Given the description of an element on the screen output the (x, y) to click on. 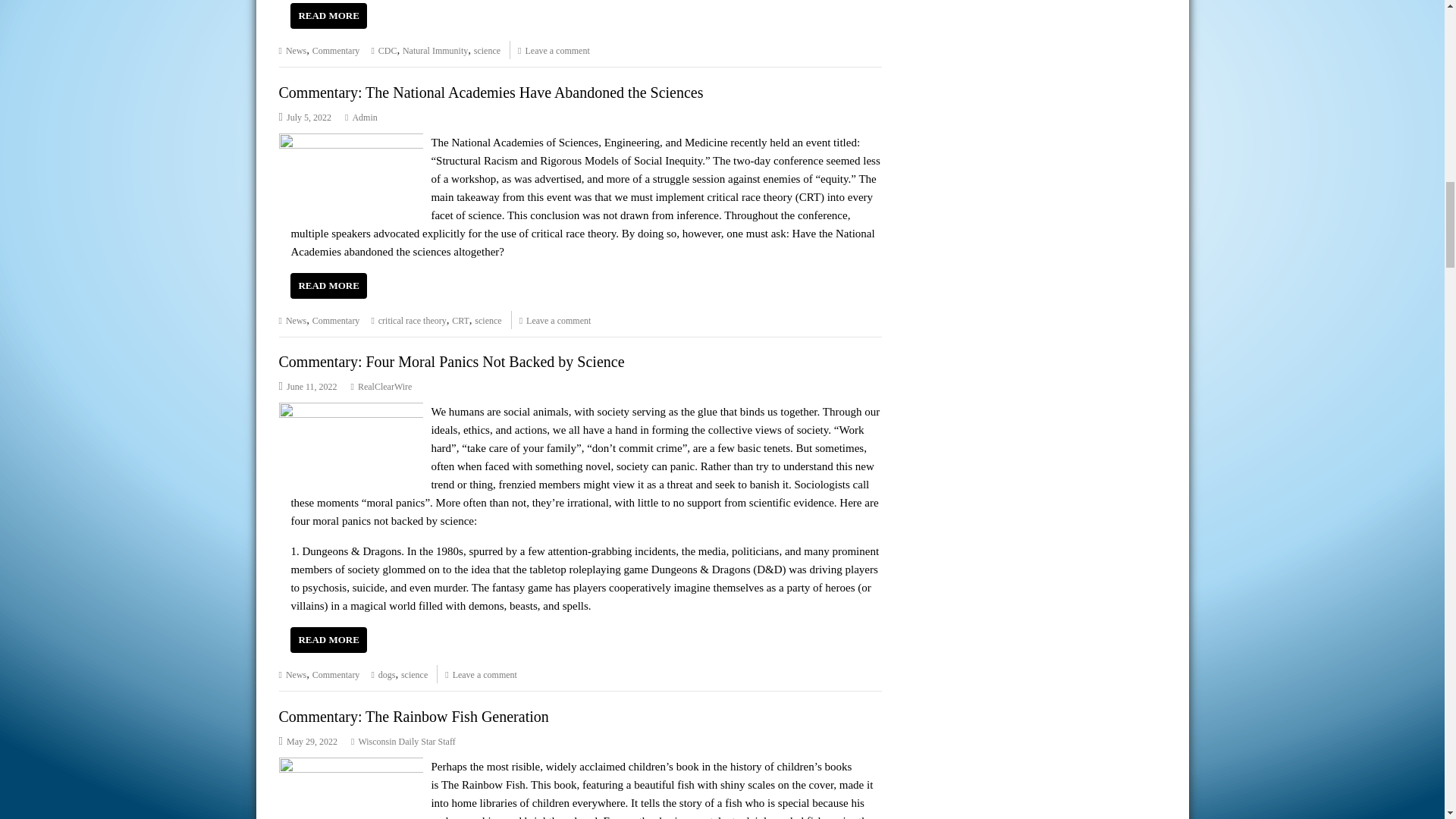
Commentary: Four Moral Panics Not Backed by Science (351, 411)
Commentary: The Rainbow Fish Generation (351, 766)
